Given the description of an element on the screen output the (x, y) to click on. 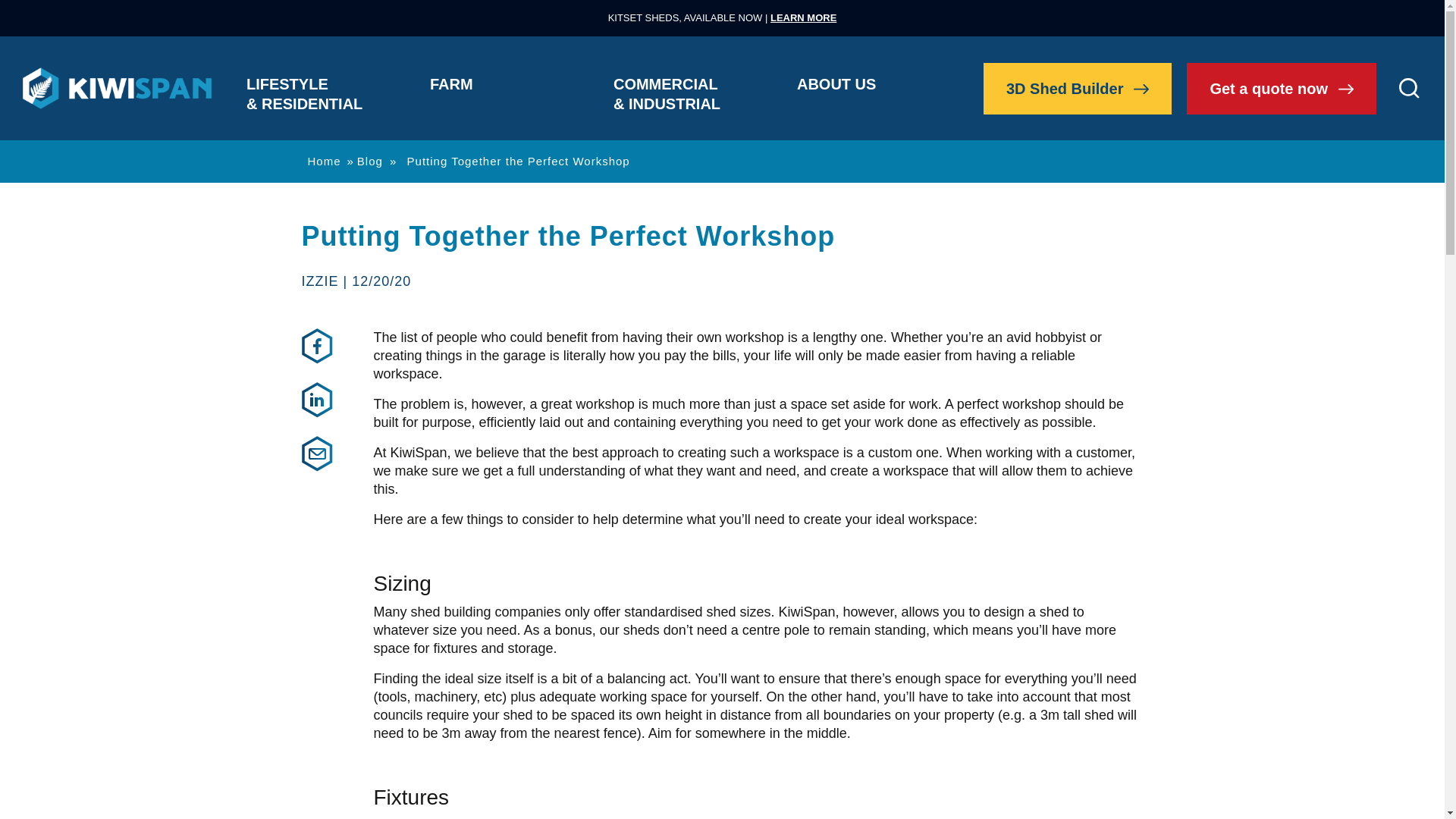
Get a quote now (1280, 87)
LEARN MORE (802, 17)
FARM (486, 88)
Farm (486, 88)
3D Shed Builder (1078, 87)
ABOUT US (853, 88)
Link to the Home page.  (117, 87)
Show website search form (1409, 87)
